Given the description of an element on the screen output the (x, y) to click on. 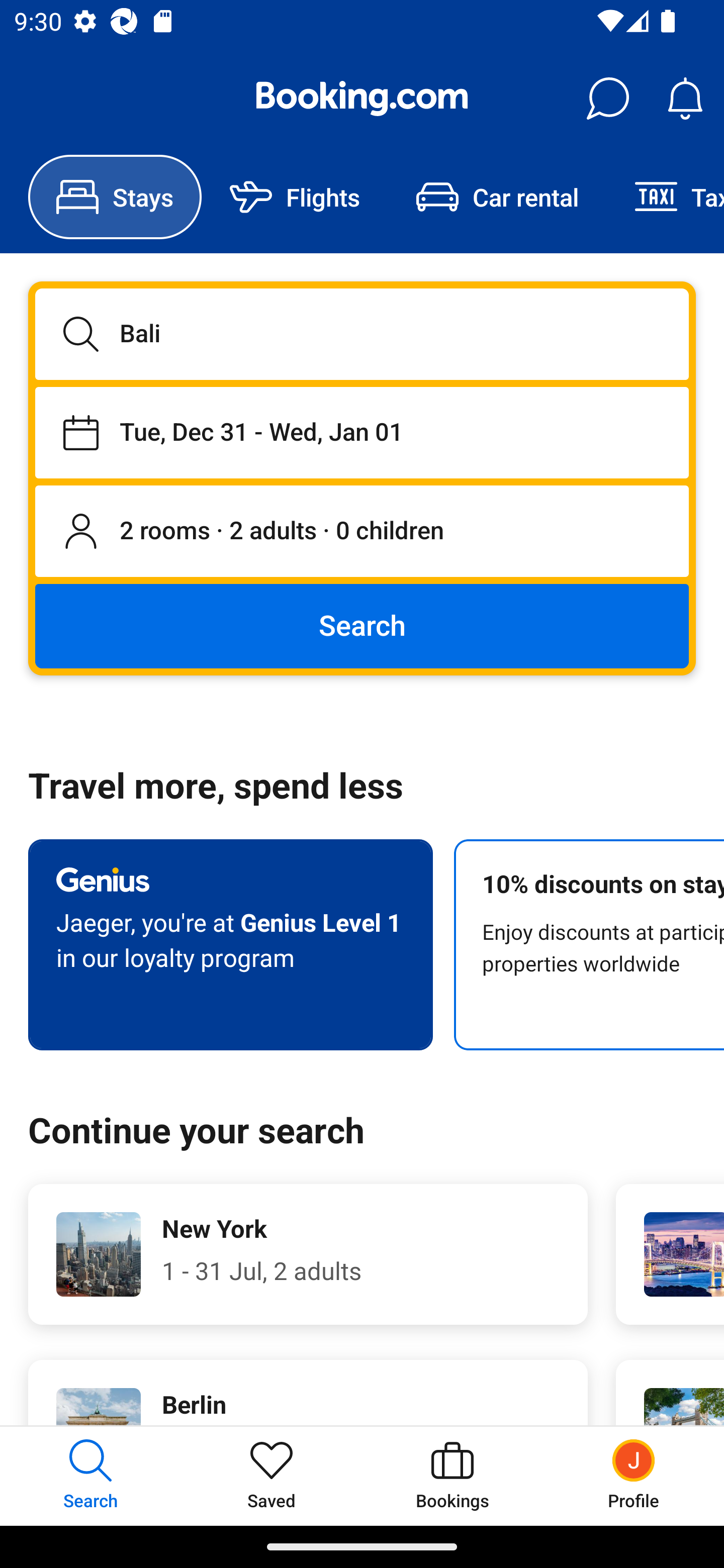
Messages (607, 98)
Notifications (685, 98)
Stays (114, 197)
Flights (294, 197)
Car rental (497, 197)
Taxi (665, 197)
Bali (361, 333)
Staying from Tue, Dec 31 until Wed, Jan 01 (361, 432)
2 rooms, 2 adults, 0 children (361, 531)
Search (361, 625)
New York 1 - 31 Jul, 2 adults (307, 1253)
Saved (271, 1475)
Bookings (452, 1475)
Profile (633, 1475)
